Given the description of an element on the screen output the (x, y) to click on. 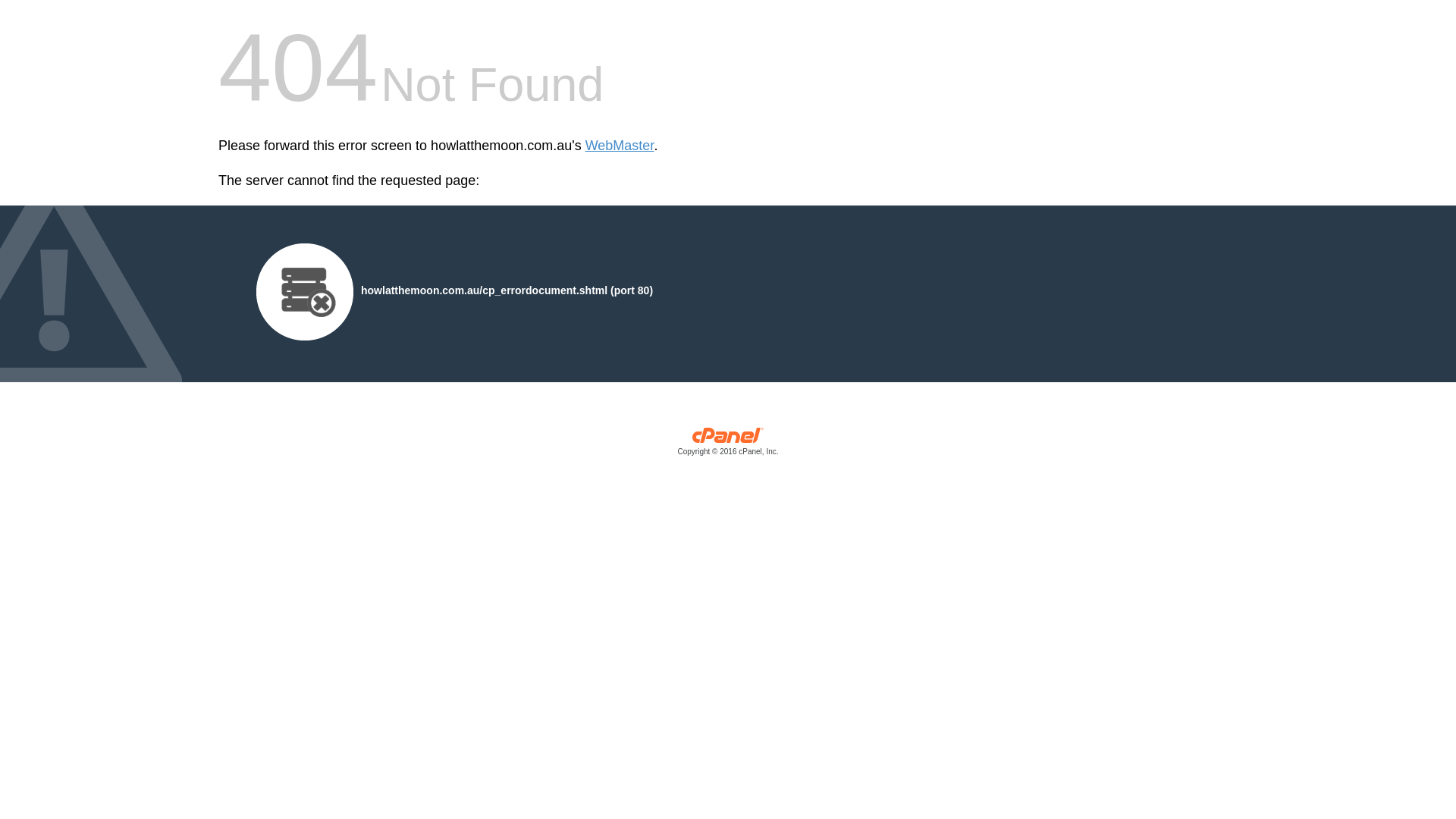
WebMaster Element type: text (619, 145)
